Given the description of an element on the screen output the (x, y) to click on. 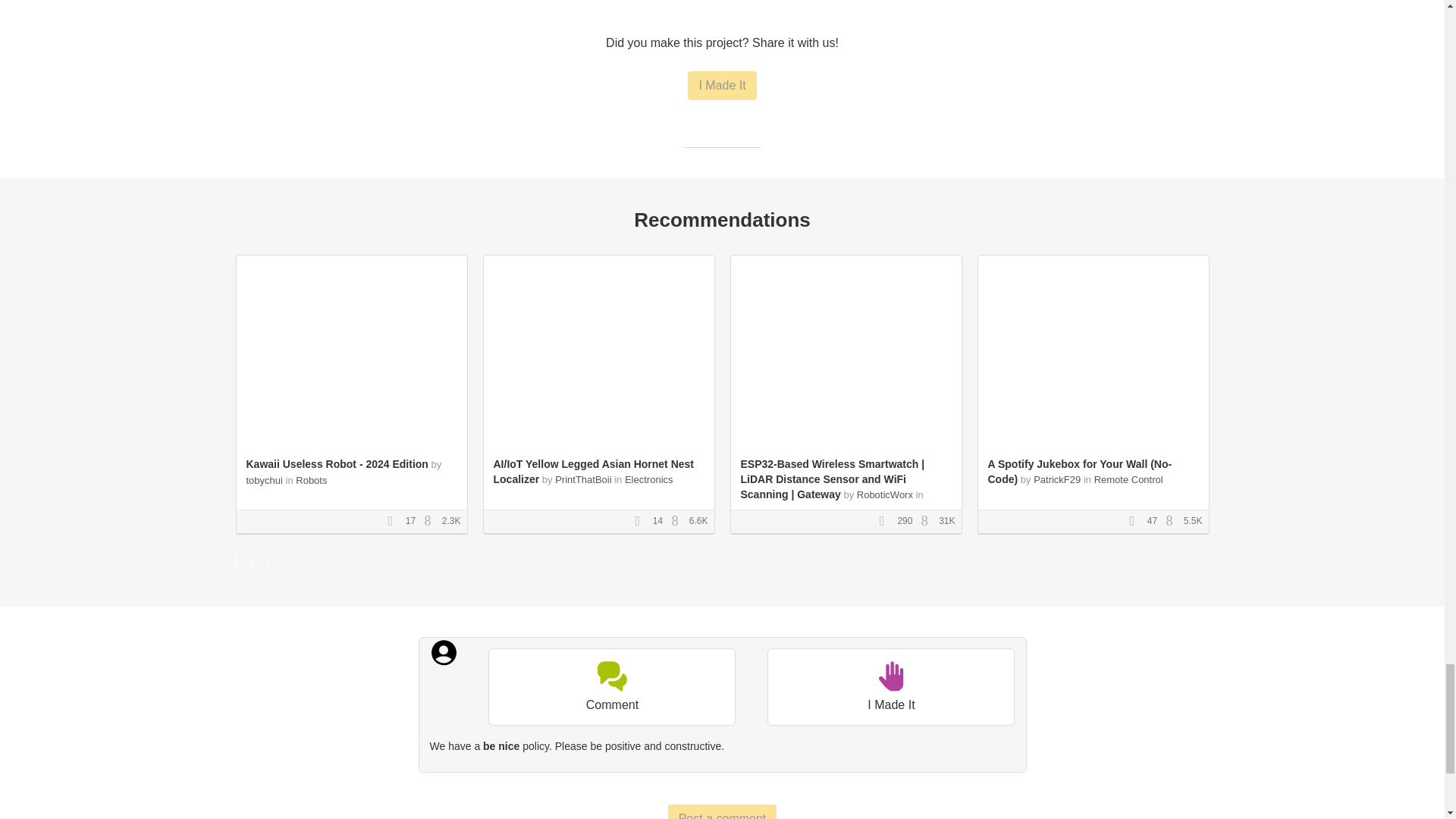
Electronics (648, 479)
Favorites Count (887, 521)
Favorites Count (1136, 521)
PatrickF29 (1056, 479)
Views Count (678, 521)
Kawaii Useless Robot - 2024 Edition (337, 463)
Remote Control (1128, 479)
Views Count (431, 521)
PrintThatBoii (584, 479)
Views Count (1173, 521)
RoboticWorx (884, 494)
Robots (310, 480)
I Made It (721, 85)
Views Count (928, 521)
Favorites Count (641, 521)
